Given the description of an element on the screen output the (x, y) to click on. 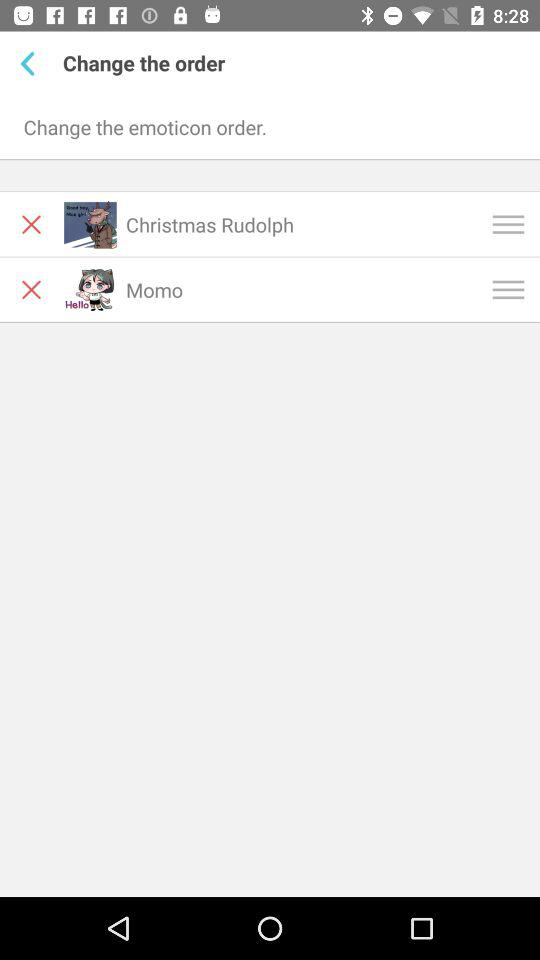
delete emoticon (31, 289)
